Given the description of an element on the screen output the (x, y) to click on. 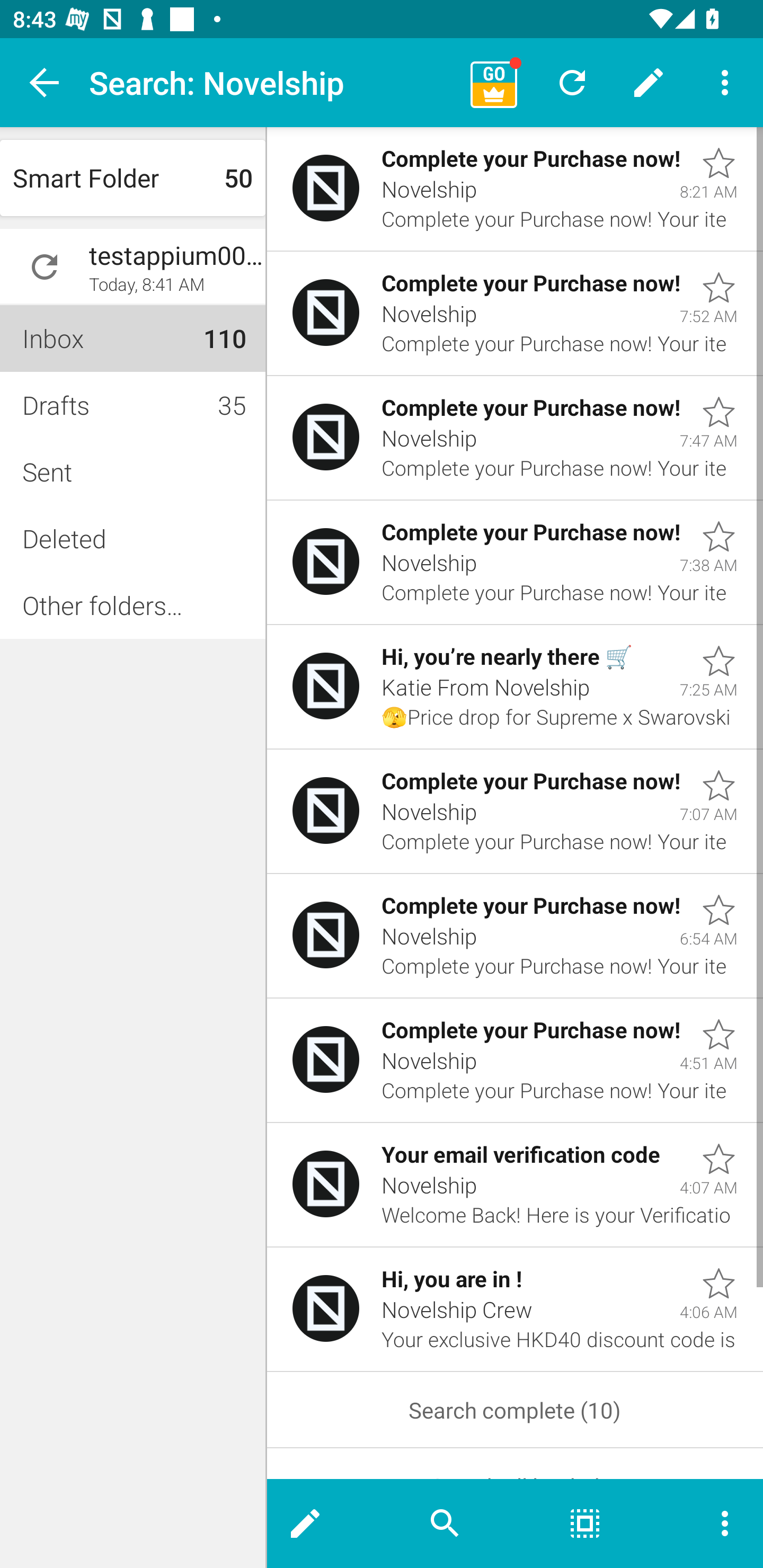
Navigate up (44, 82)
Refresh all (572, 82)
New message (648, 82)
More options (724, 81)
Smart Folder 50 50 unread, 50 total messages (132, 177)
Refresh account (44, 266)
Sent Folder: Sent 24 total messages (132, 471)
Deleted Folder: Deleted 0 total messages (132, 538)
Other folders… (132, 605)
Search complete (10) (515, 1410)
New message (321, 1523)
Search (445, 1523)
Select all (584, 1523)
More options (708, 1522)
